Given the description of an element on the screen output the (x, y) to click on. 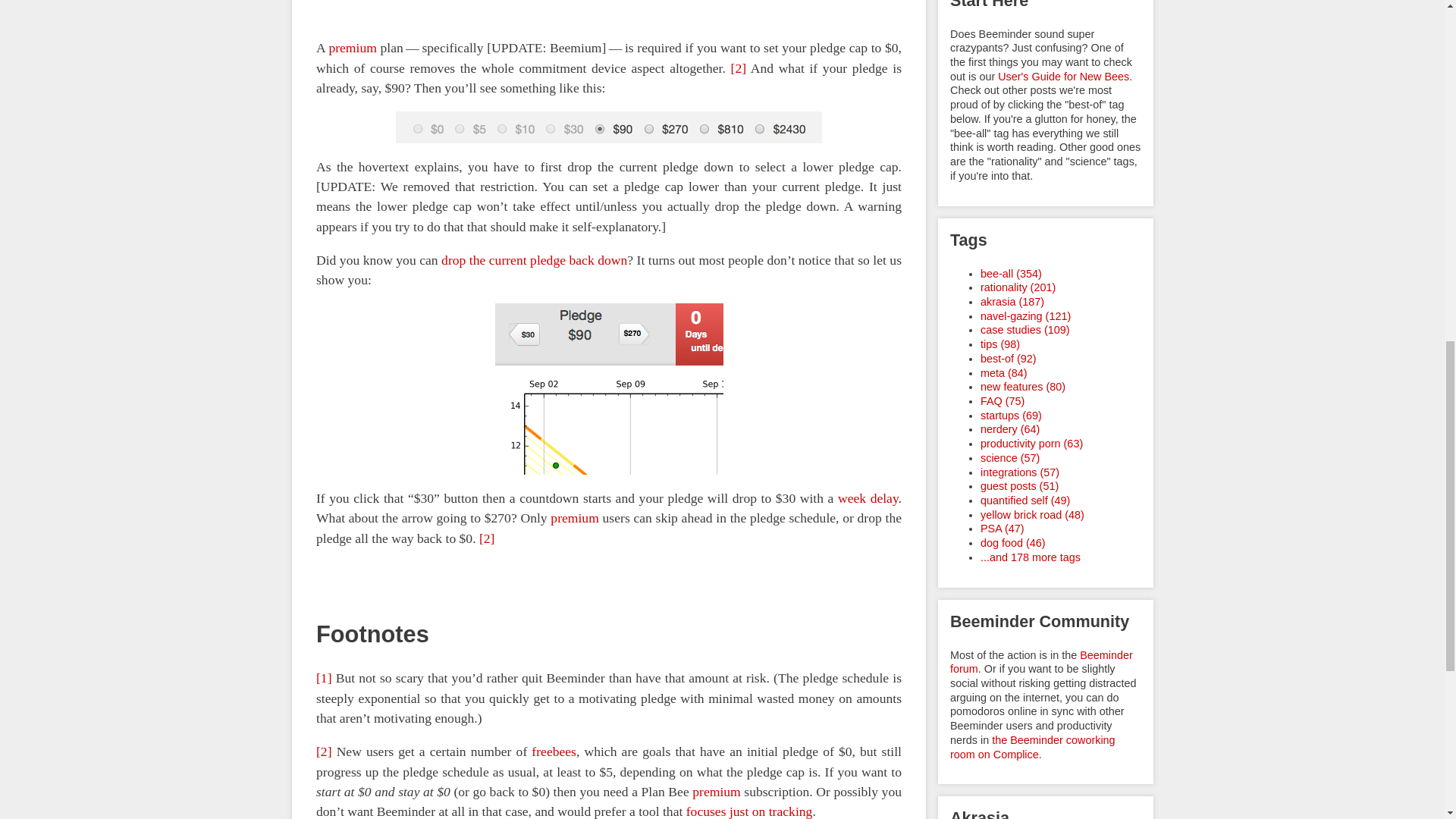
premium (717, 791)
premium (574, 517)
A link to the Beeminder glossary! (553, 751)
week delay (867, 498)
focuses just on tracking (748, 811)
drop the current pledge back down (534, 259)
freebees (553, 751)
premium (353, 48)
